Given the description of an element on the screen output the (x, y) to click on. 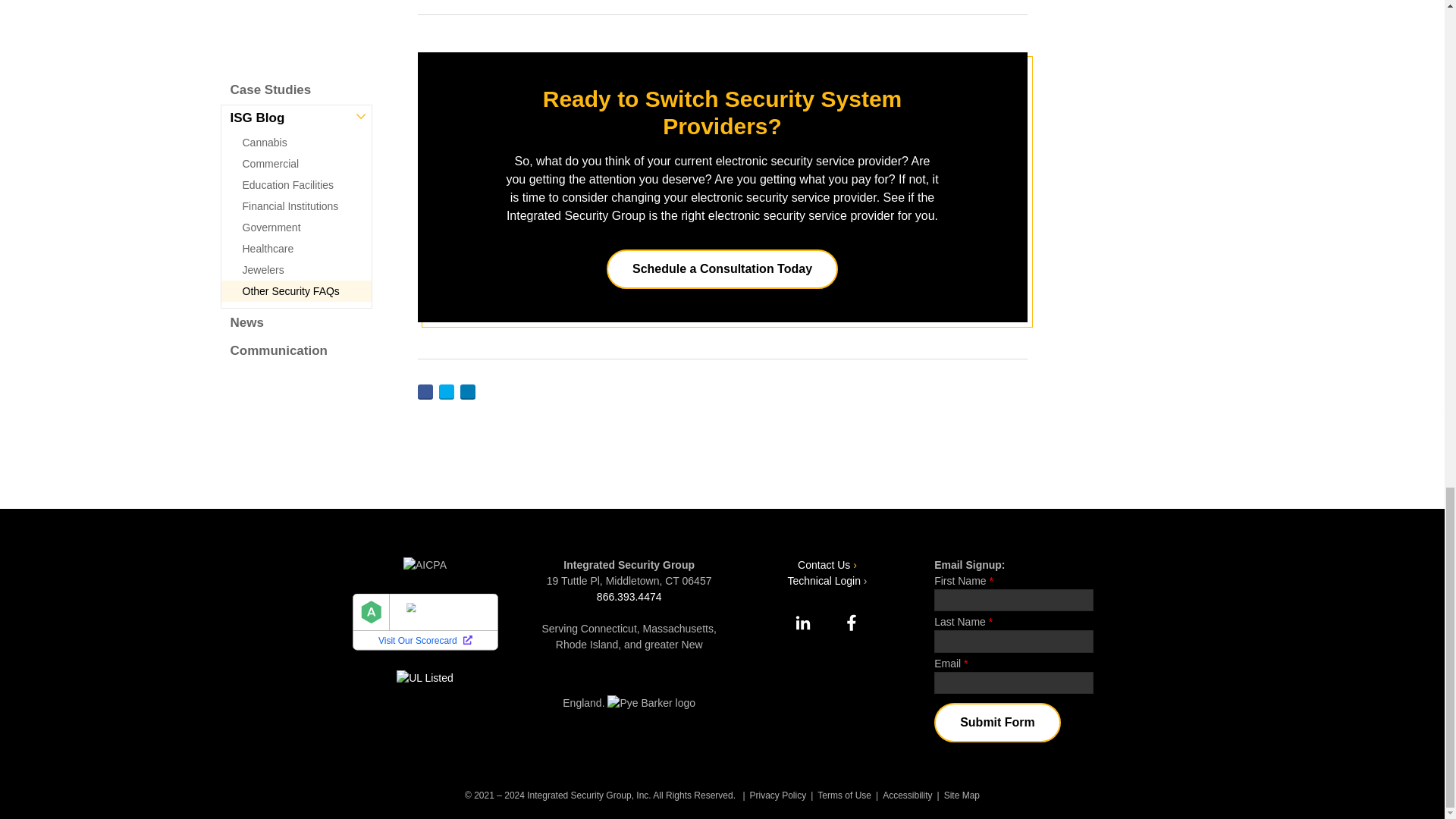
Like Us on Facebook (851, 622)
Share on Facebook (424, 391)
Connect with Us on LinkedIn (802, 622)
security score a (449, 631)
Share on LinkedIn (467, 391)
Share on Twitter (445, 391)
Submit Form (997, 722)
